Given the description of an element on the screen output the (x, y) to click on. 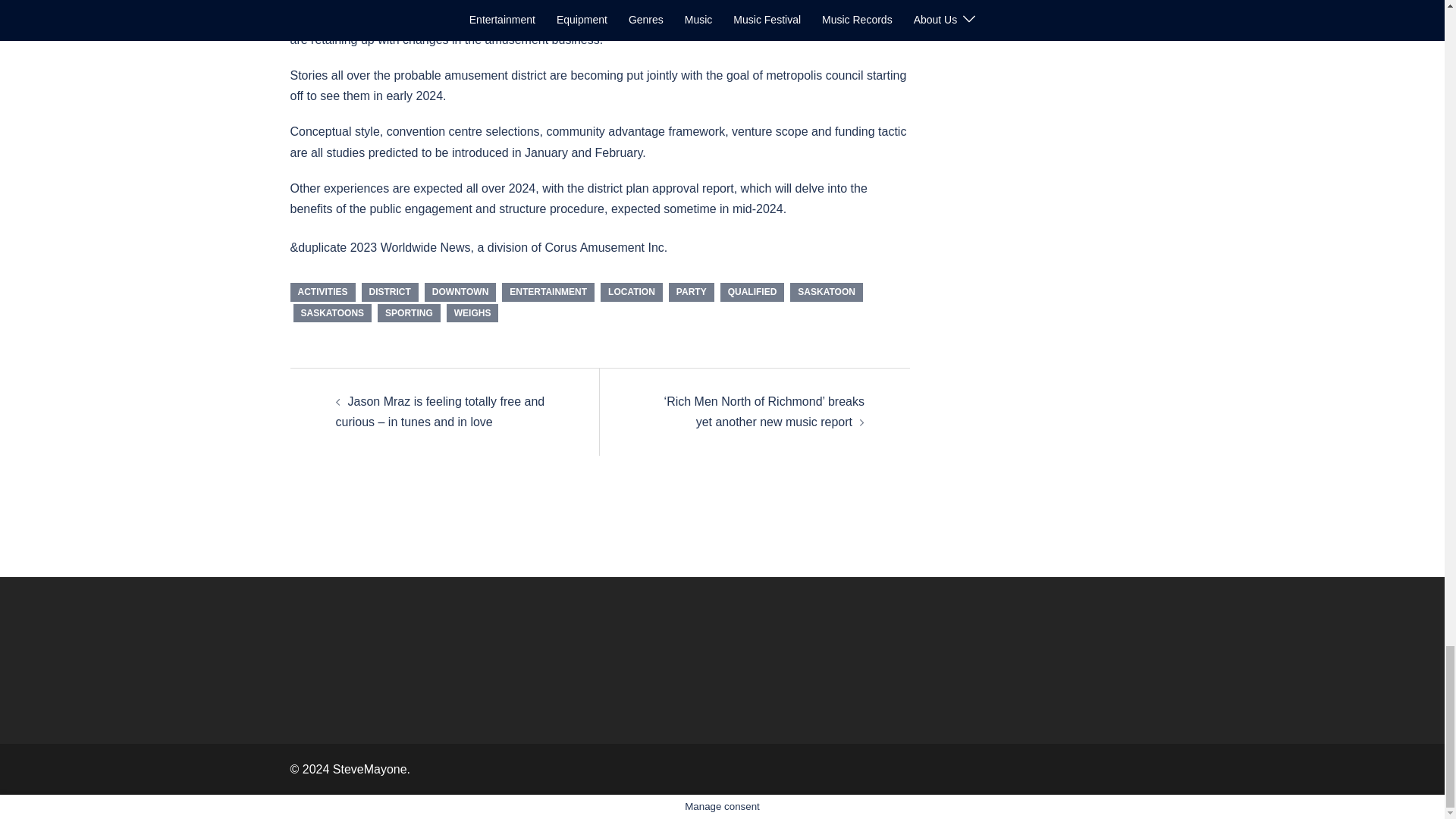
DOWNTOWN (460, 291)
ACTIVITIES (322, 291)
ENTERTAINMENT (548, 291)
DISTRICT (390, 291)
